Given the description of an element on the screen output the (x, y) to click on. 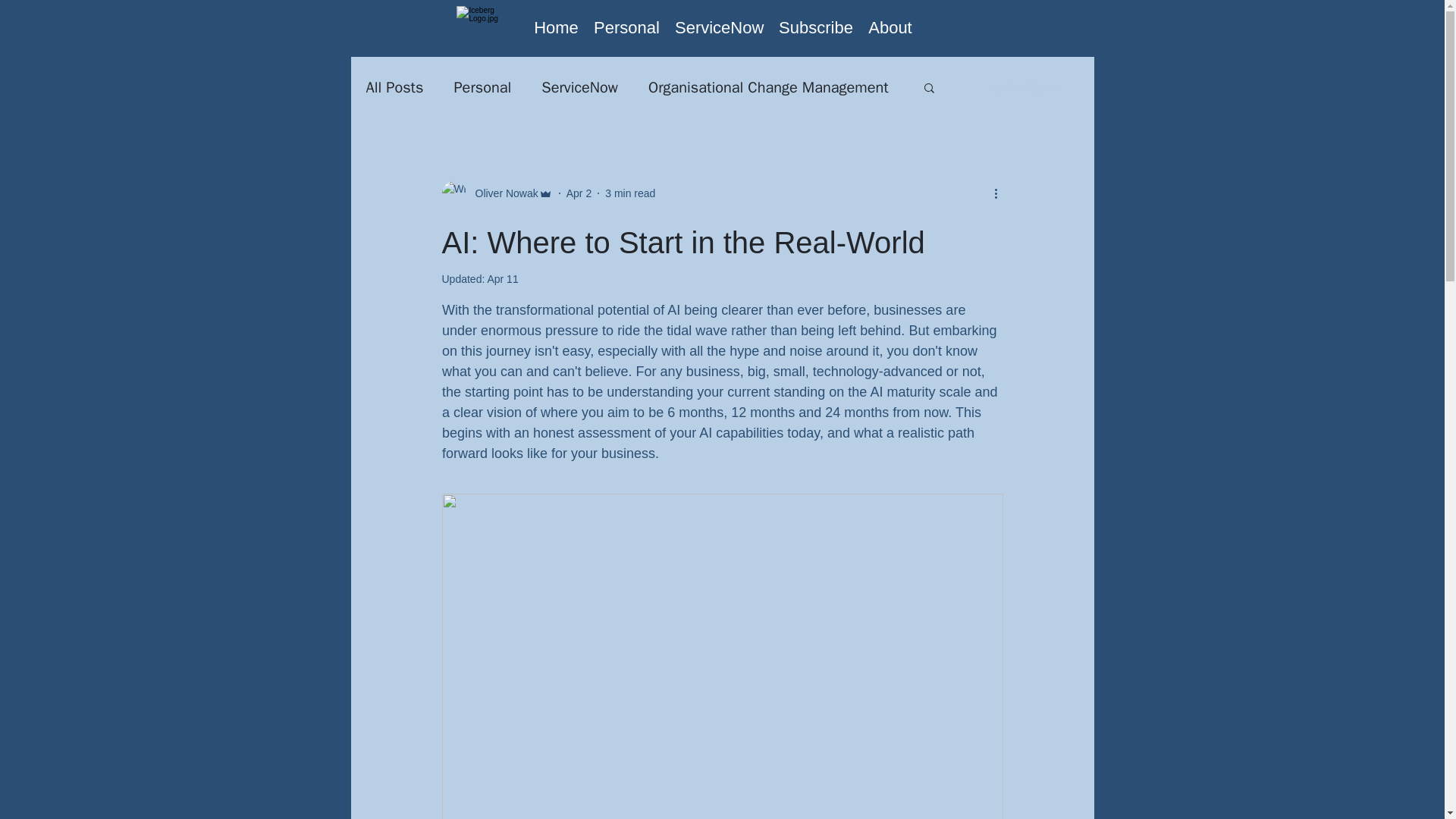
Apr 11 (502, 278)
Personal (626, 27)
All Posts (394, 86)
ServiceNow (718, 27)
Apr 2 (578, 192)
Home (555, 27)
3 min read (630, 192)
Subscribe (815, 27)
Oliver Nowak (501, 192)
Organisational Change Management (767, 86)
Personal (481, 86)
ServiceNow (579, 86)
About (890, 27)
